Given the description of an element on the screen output the (x, y) to click on. 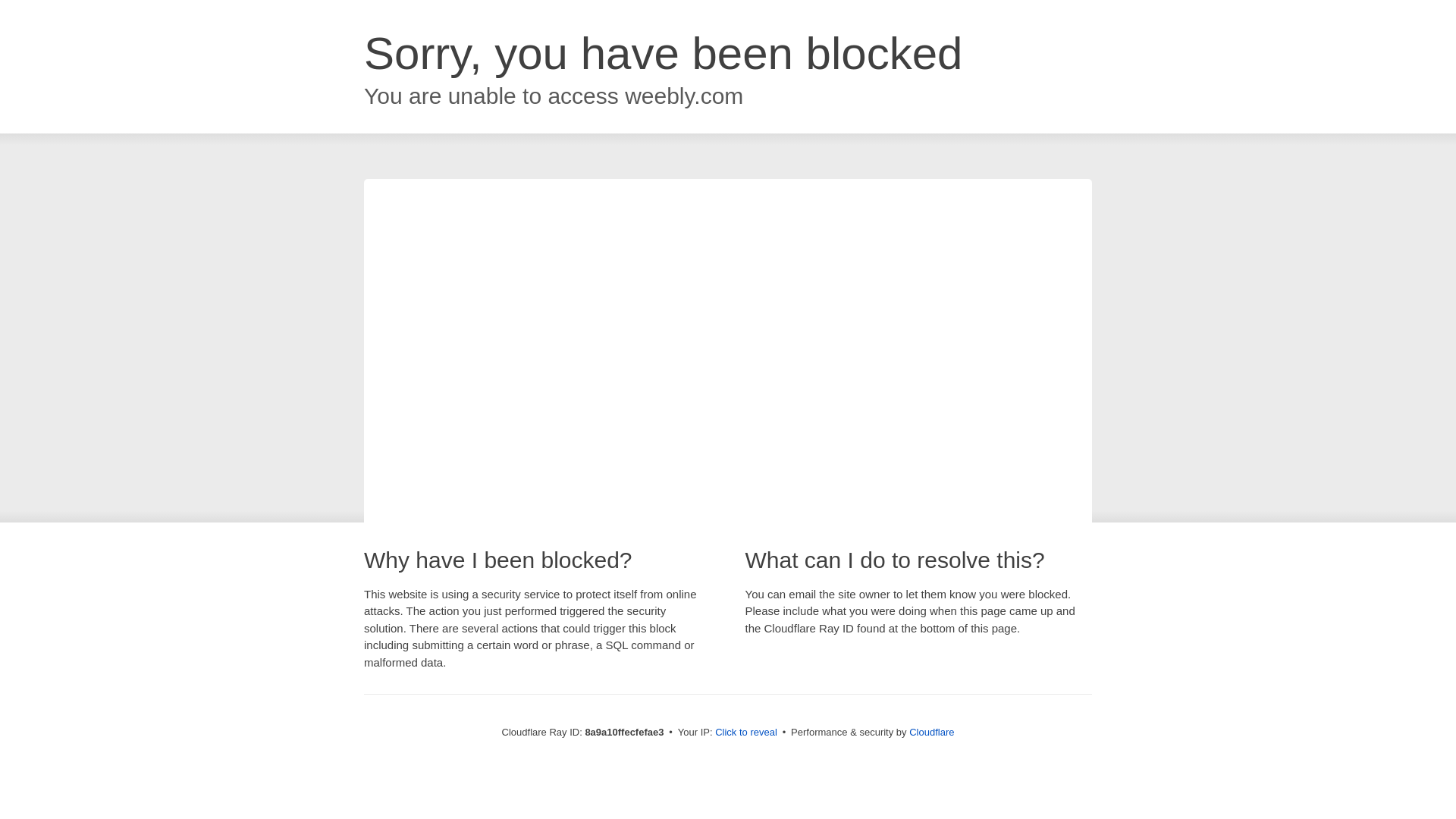
Click to reveal (745, 732)
Cloudflare (930, 731)
